Given the description of an element on the screen output the (x, y) to click on. 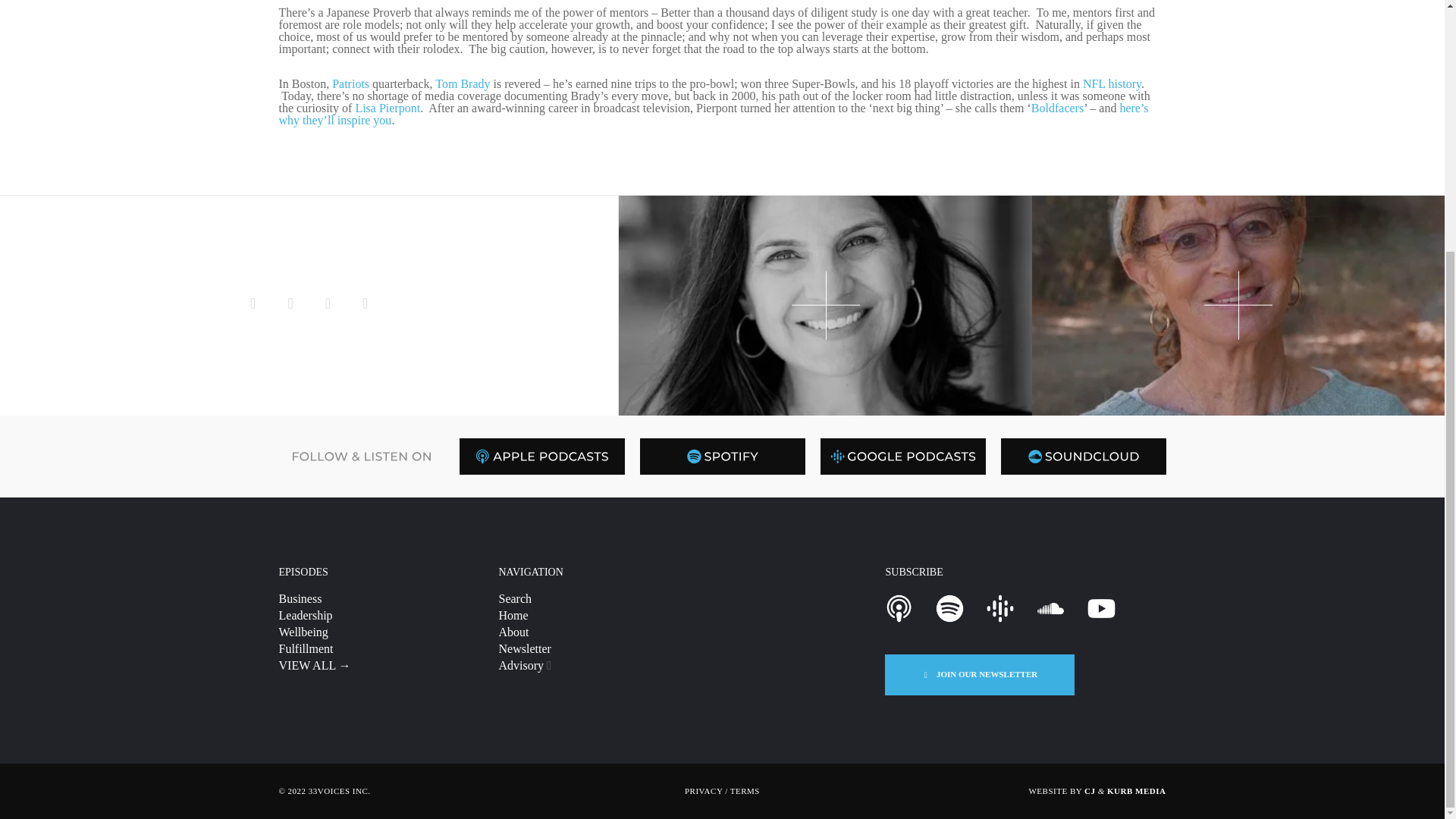
NFL history (1112, 83)
Lisa Pierpont (387, 107)
Listen on Apple Podcasts (542, 456)
The Birth of Giants (290, 305)
Listen on Google Podcasts (1000, 608)
The Birth of Giants (364, 305)
Boldfacers (1056, 107)
Listen on Spotify (722, 456)
Tom Brady (462, 83)
The Birth of Giants (328, 305)
